Given the description of an element on the screen output the (x, y) to click on. 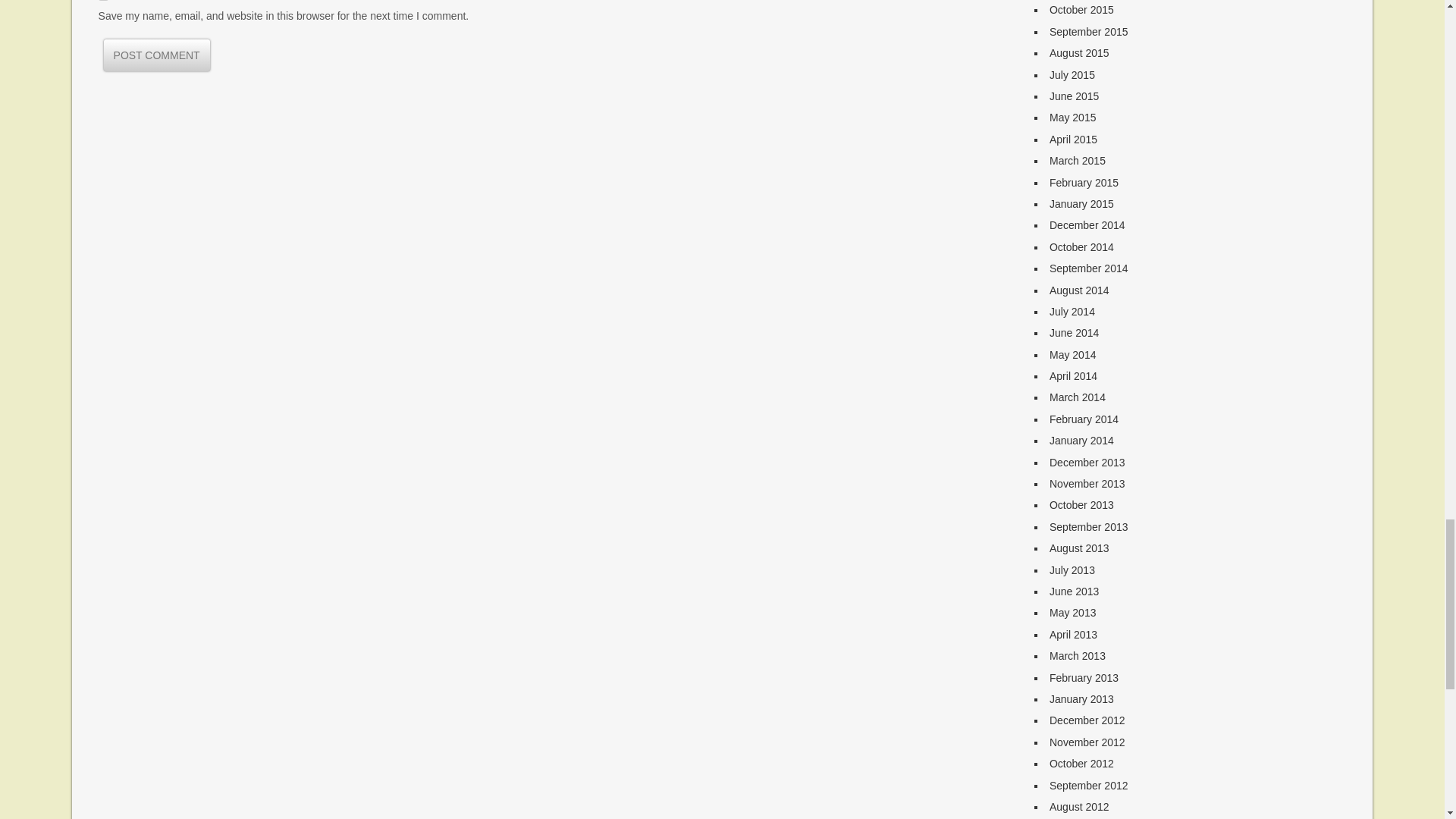
Post Comment (156, 55)
Post Comment (156, 55)
